Given the description of an element on the screen output the (x, y) to click on. 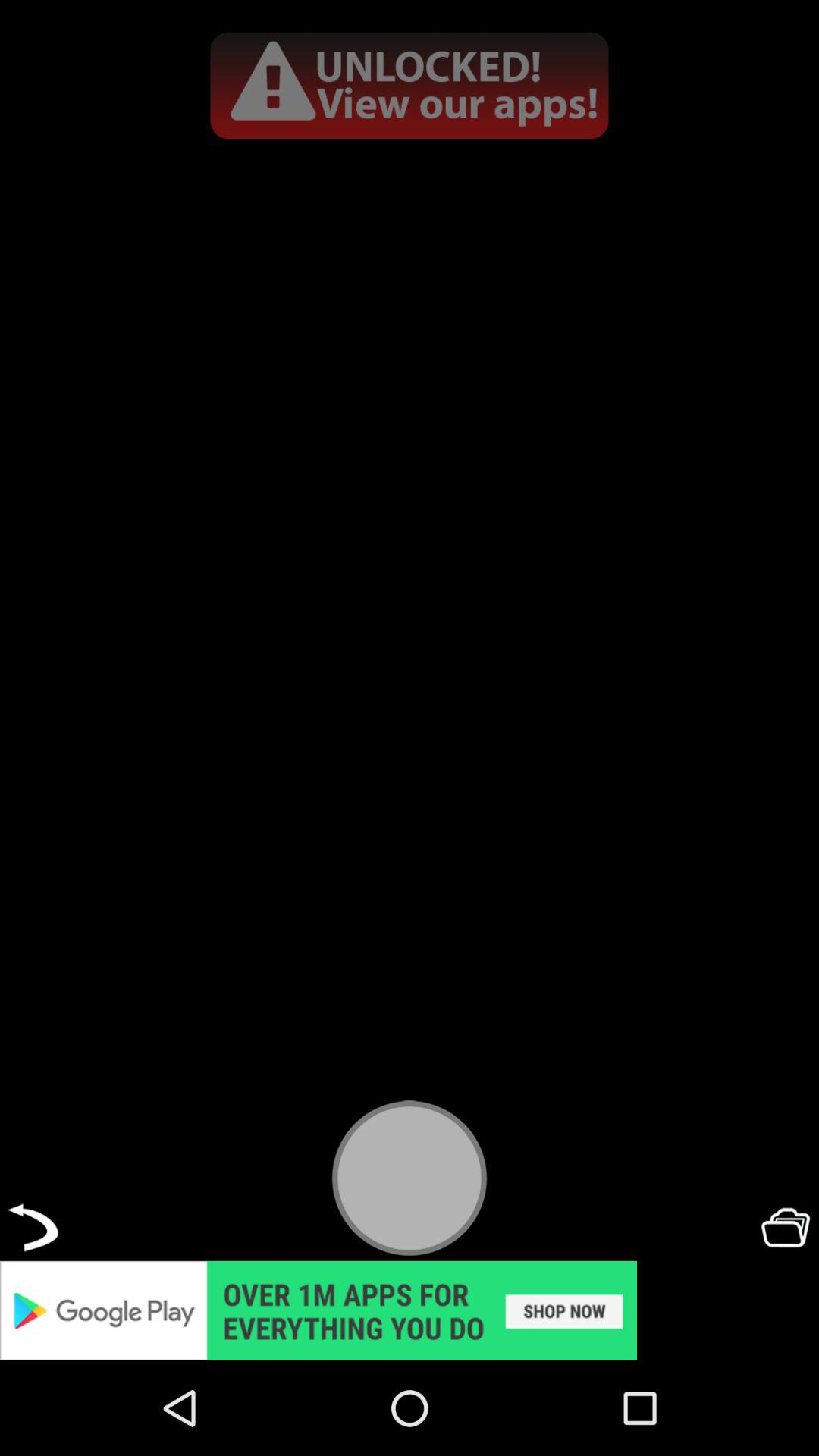
camera button (409, 1177)
